Given the description of an element on the screen output the (x, y) to click on. 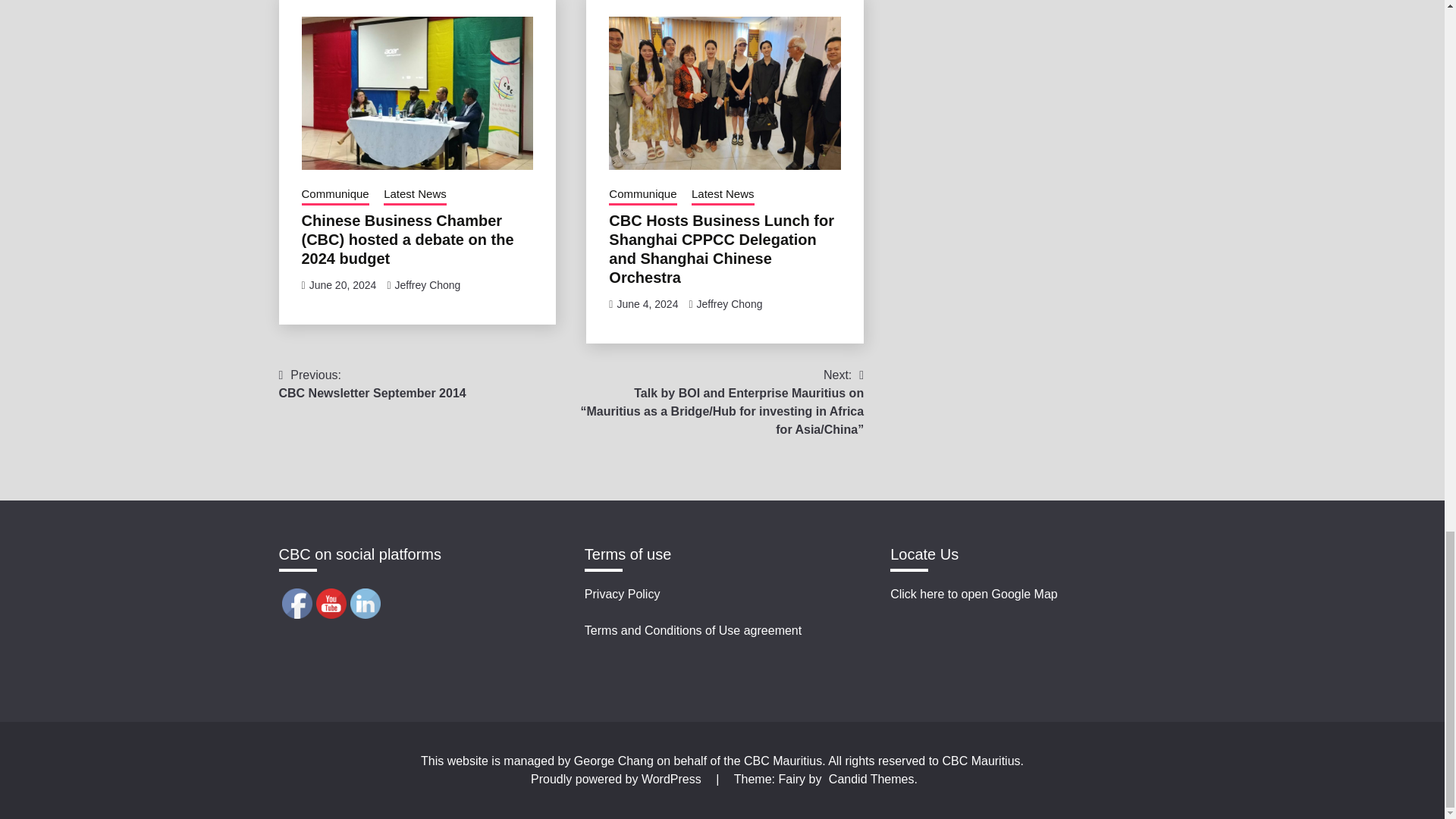
Communique (335, 195)
Communique (642, 195)
Jeffrey Chong (427, 285)
June 4, 2024 (646, 303)
Jeffrey Chong (729, 303)
Latest News (415, 195)
June 20, 2024 (342, 285)
Facebook (297, 603)
LinkedIn (365, 603)
Latest News (722, 195)
YouTube (372, 383)
